Given the description of an element on the screen output the (x, y) to click on. 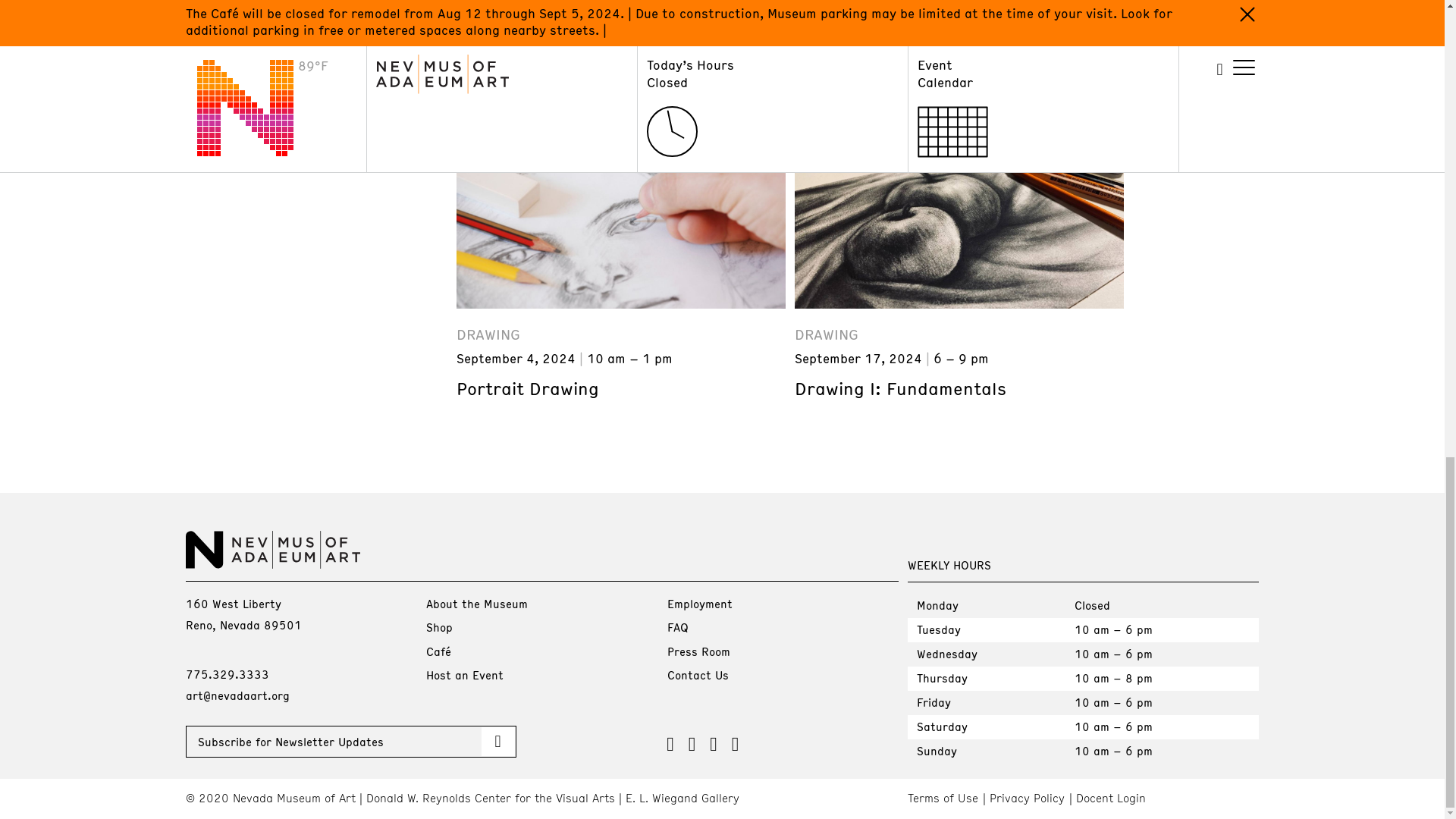
About the Museum (476, 603)
Employment (699, 603)
Host an Event (464, 674)
Shop (439, 626)
VIEW ALL (1195, 141)
775.329.3333 (225, 673)
